Given the description of an element on the screen output the (x, y) to click on. 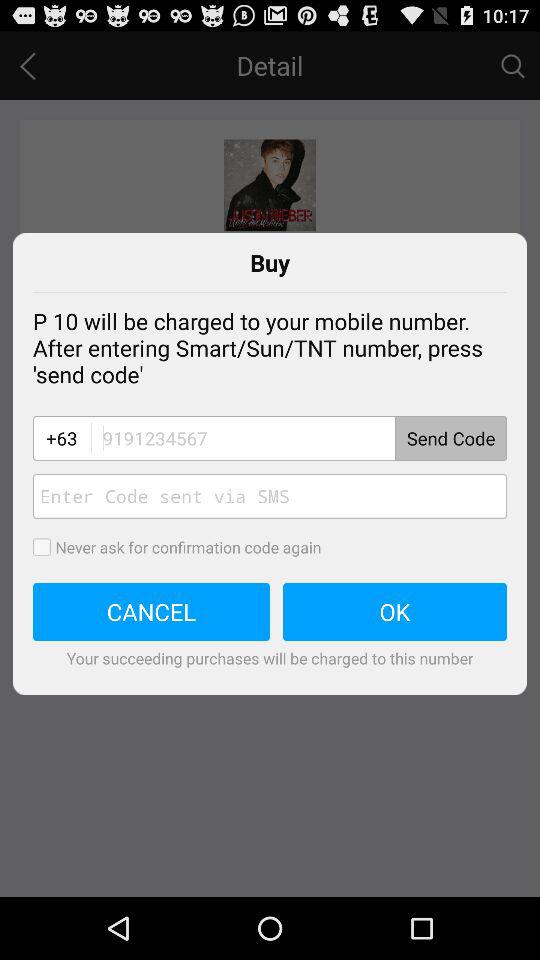
sends the code (298, 438)
